Given the description of an element on the screen output the (x, y) to click on. 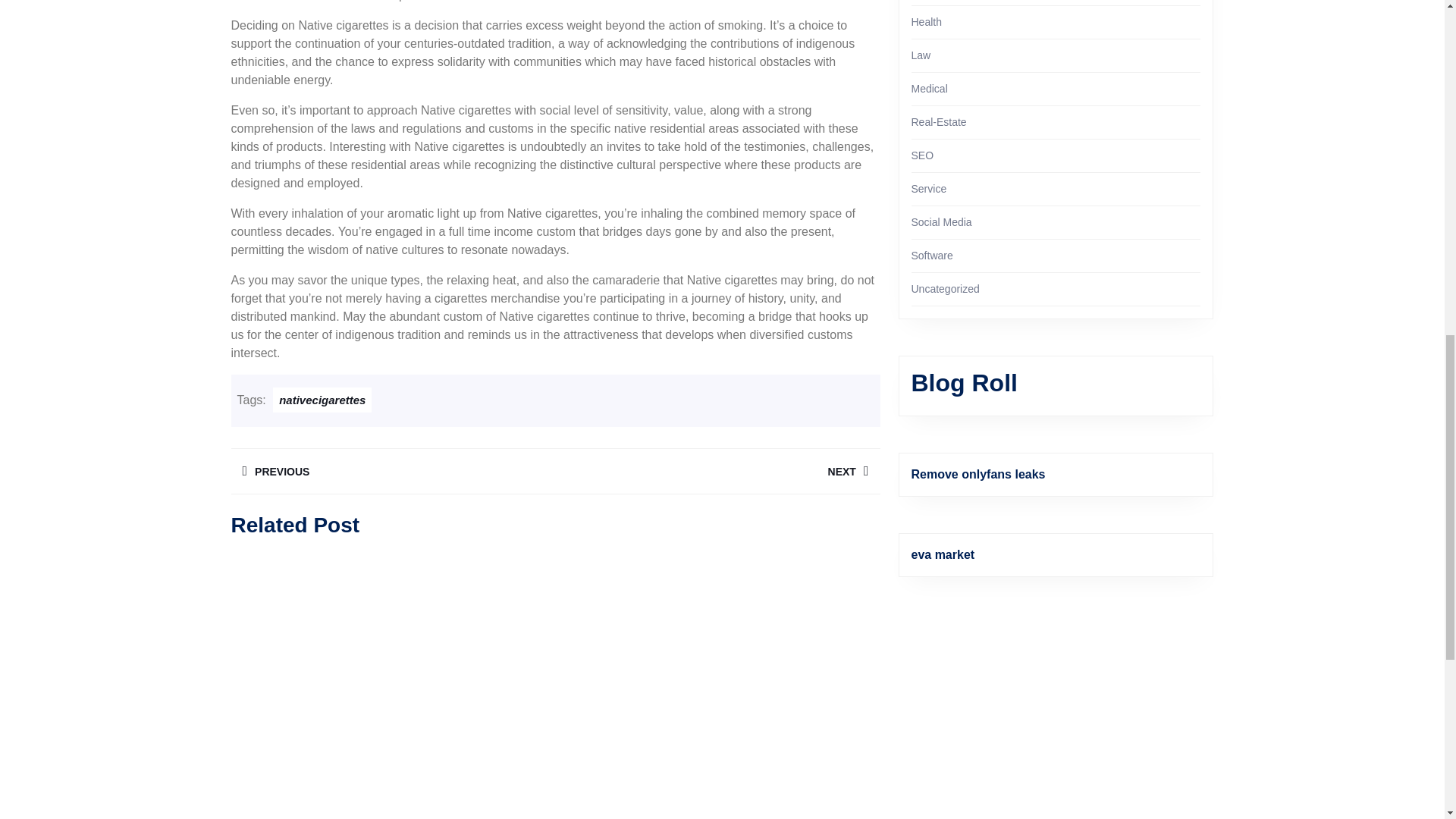
nativecigarettes (716, 470)
